Given the description of an element on the screen output the (x, y) to click on. 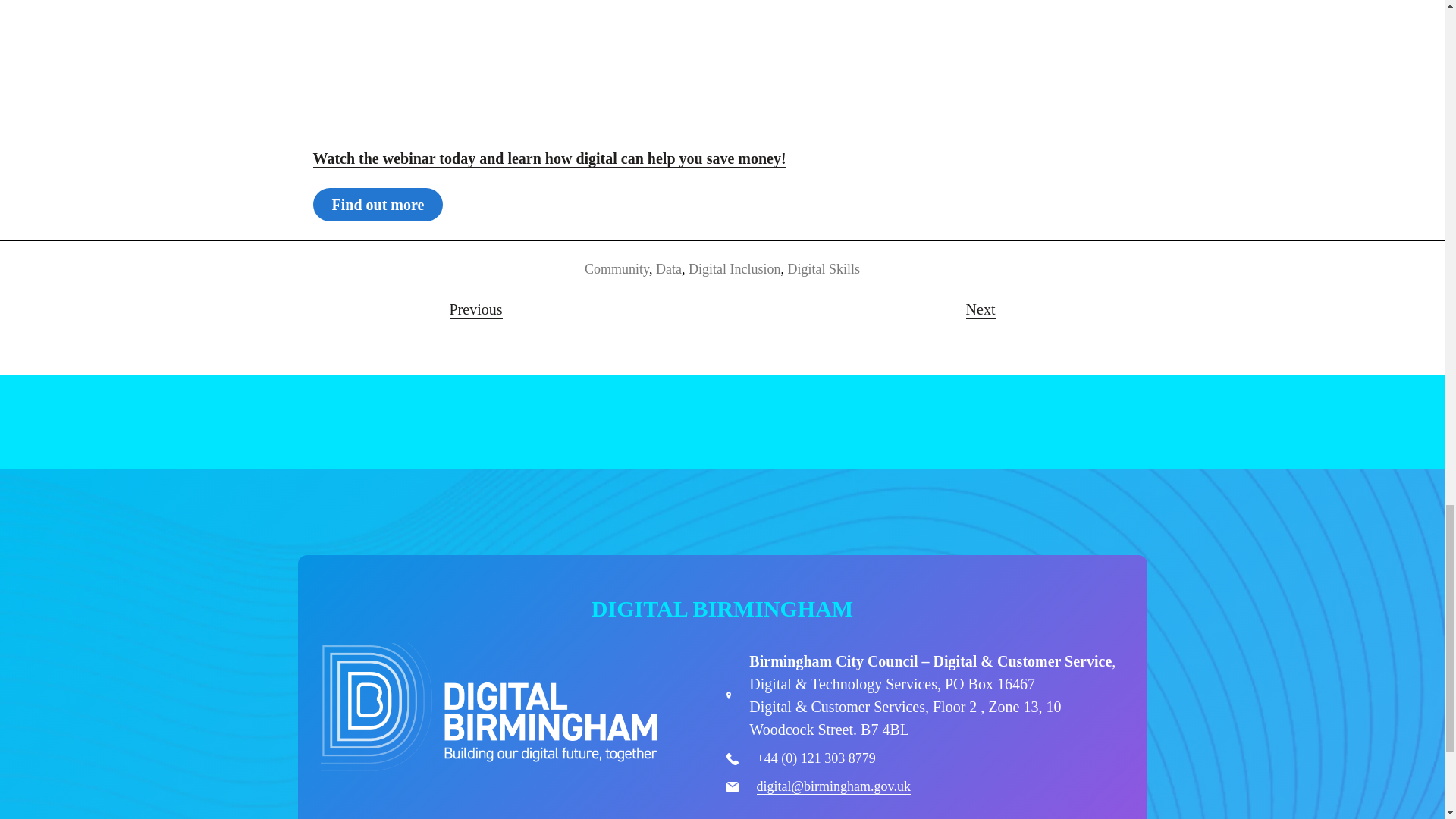
Previous (475, 309)
Community (617, 268)
DIGITAL BIRMINGHAM (722, 608)
Data (668, 268)
Next (980, 309)
Digital Skills (823, 268)
Find out more (377, 204)
Digital Inclusion (734, 268)
